Given the description of an element on the screen output the (x, y) to click on. 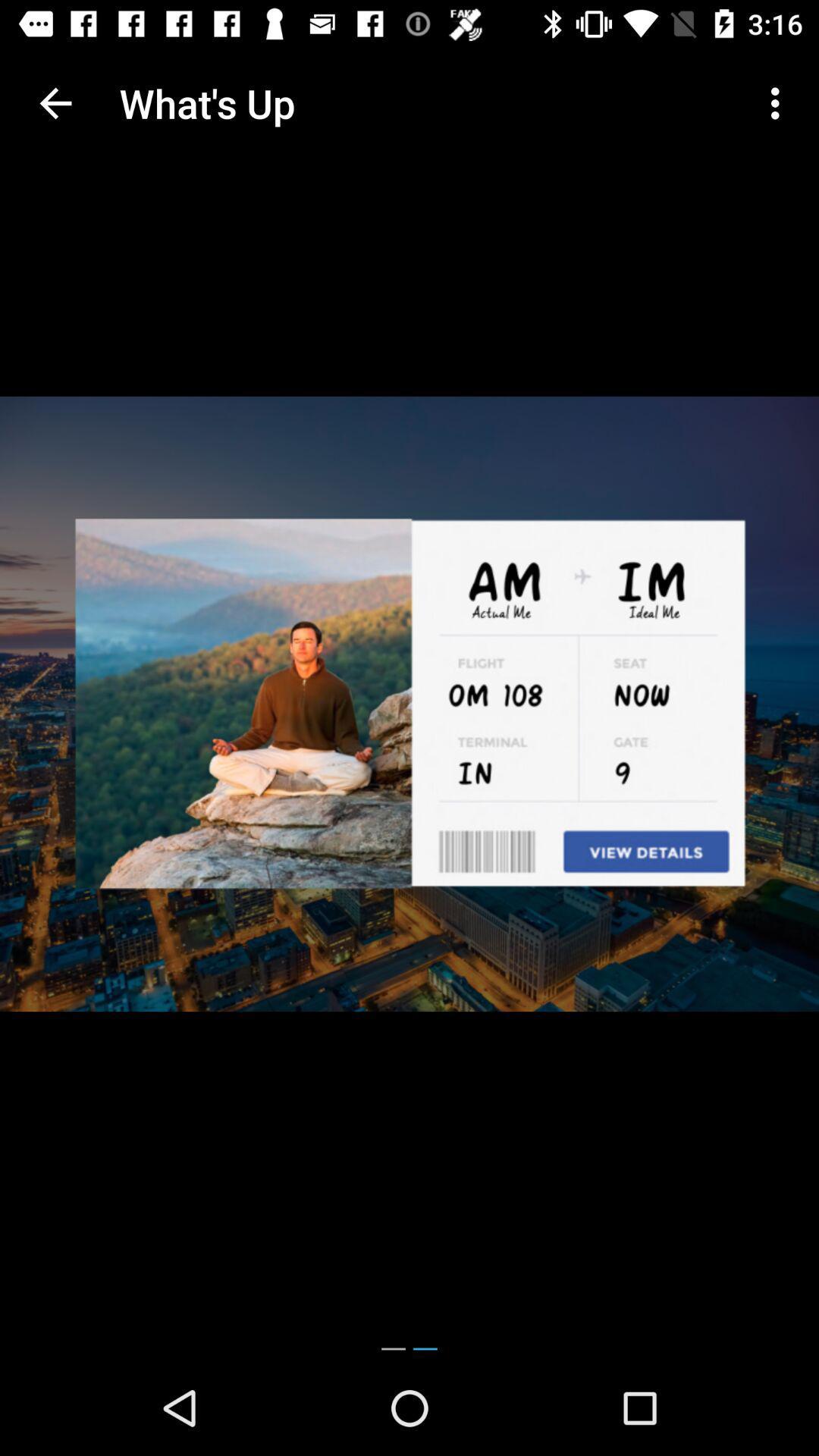
click the icon next to what's up (55, 103)
